Given the description of an element on the screen output the (x, y) to click on. 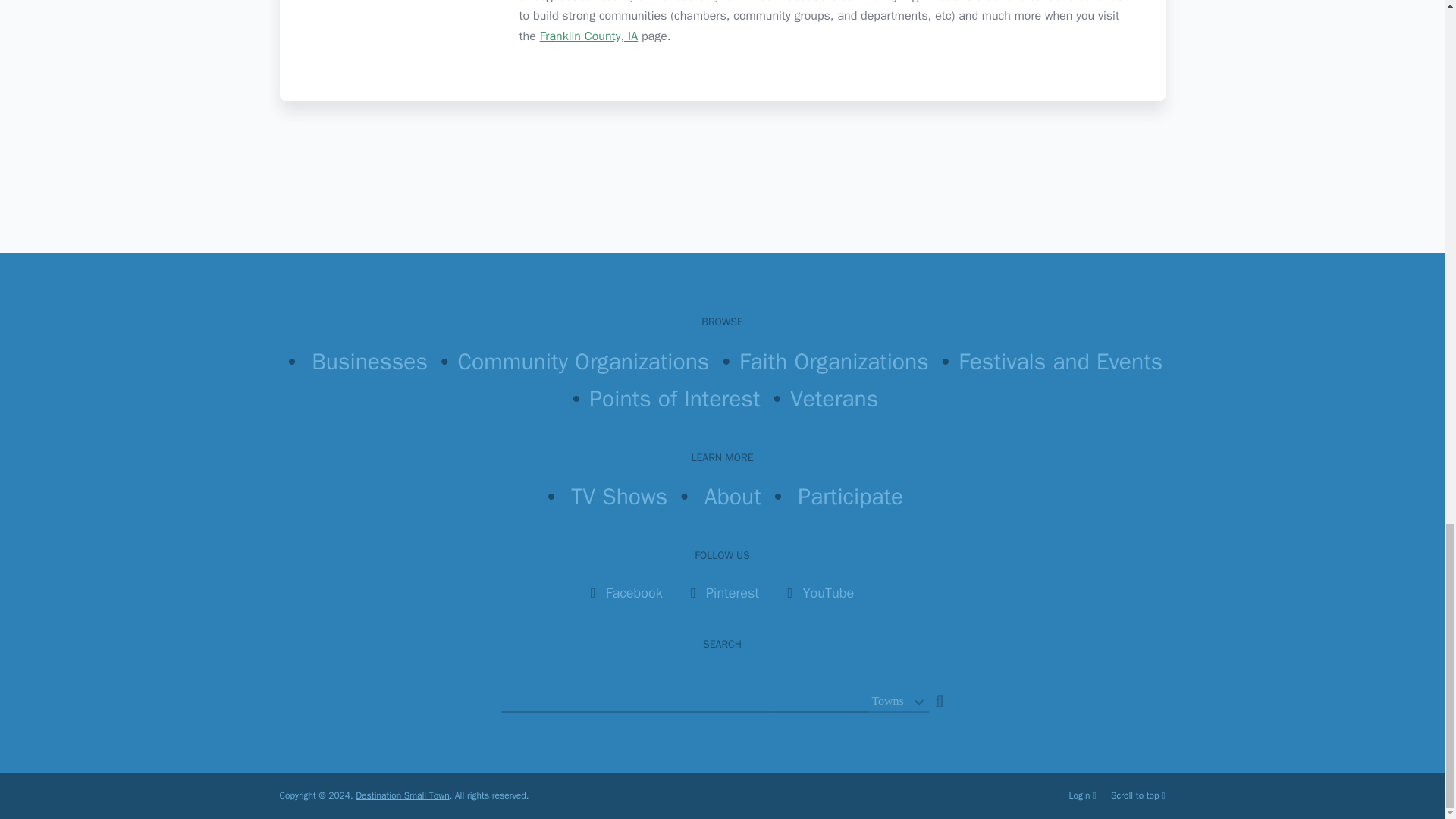
TV Shows (618, 496)
Login Scroll to top (1117, 795)
Community Organizations (584, 361)
Destination Small Town (401, 795)
Veterans (833, 398)
Franklin County, IA (588, 36)
Participate (849, 496)
Facebook (633, 592)
Businesses (369, 361)
About (732, 496)
Festivals and Events (1059, 361)
Login (1083, 795)
YouTube (828, 592)
Points of Interest (674, 398)
Scroll to top (1138, 795)
